Given the description of an element on the screen output the (x, y) to click on. 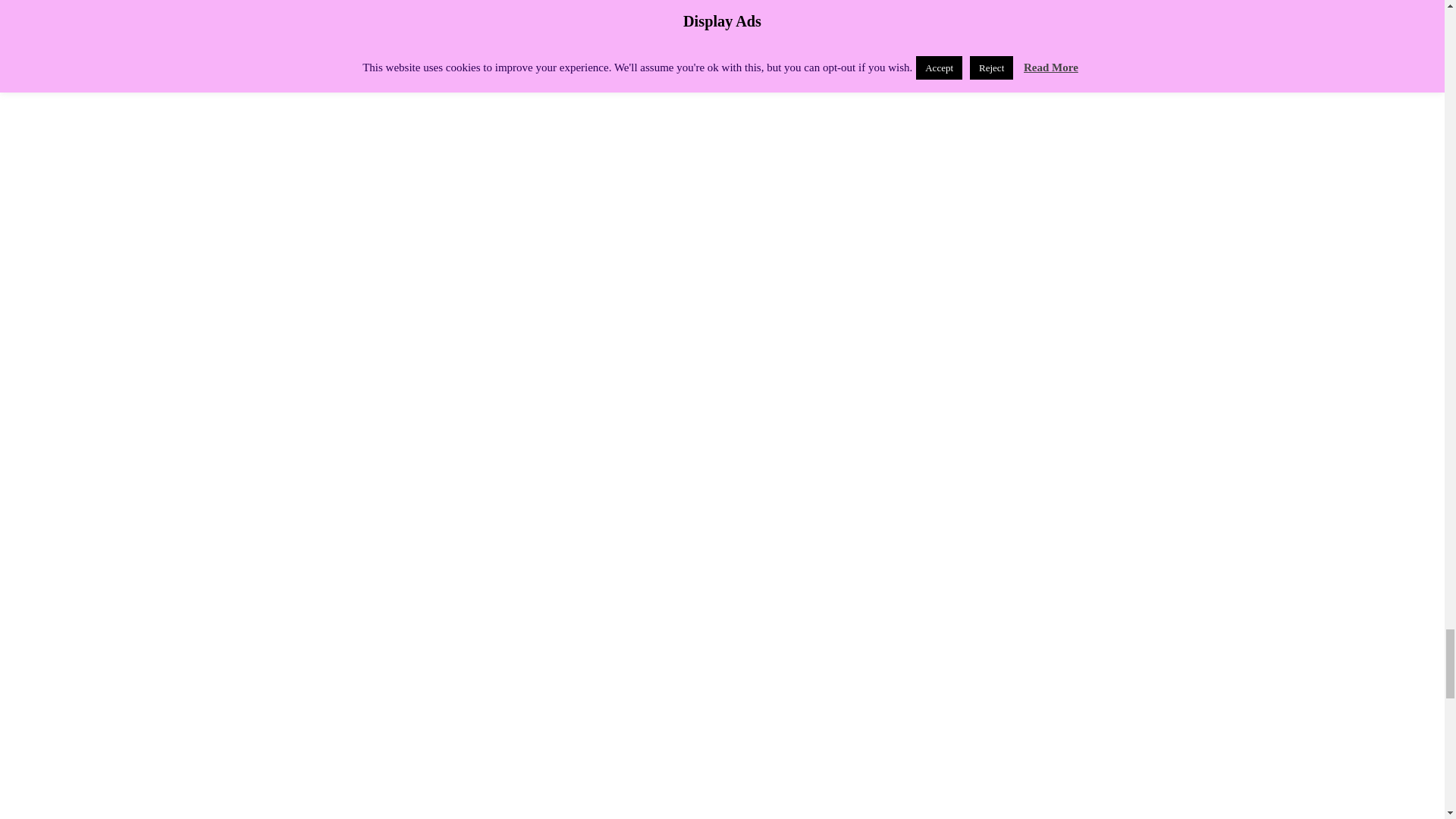
Pin Me! (361, 33)
